Given the description of an element on the screen output the (x, y) to click on. 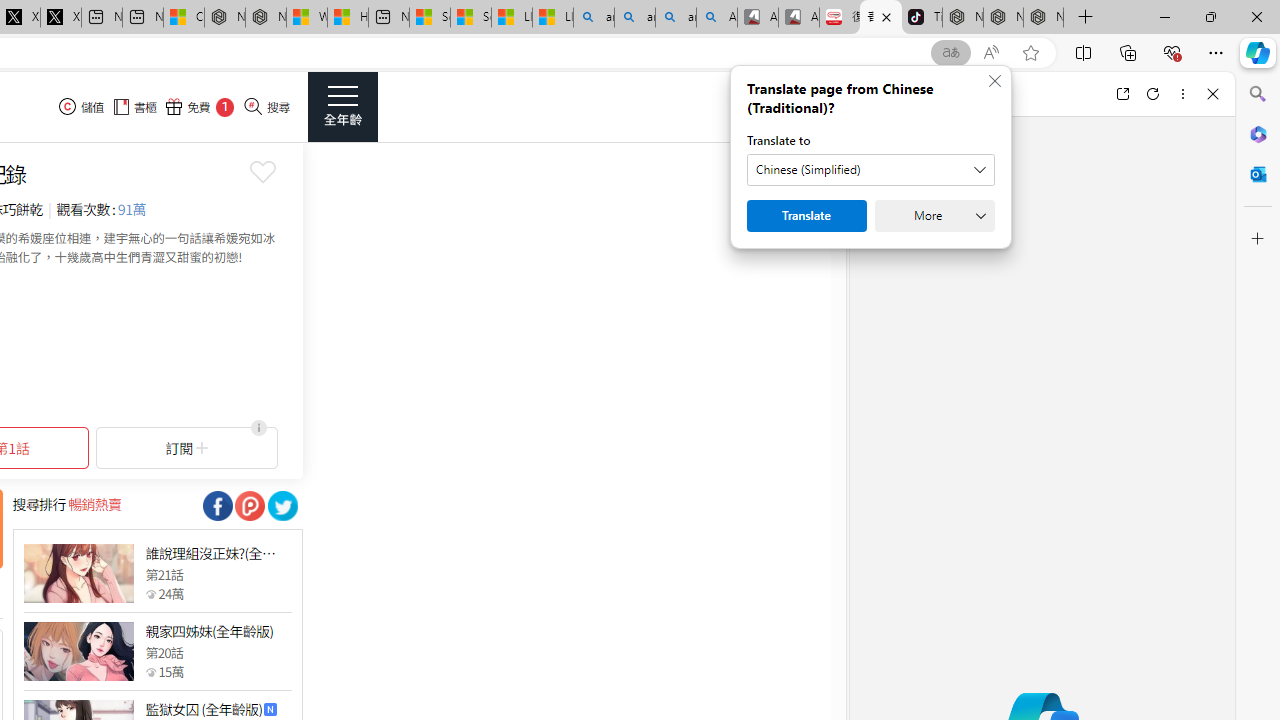
Class: side_menu_btn actionRightMenuBtn (342, 106)
Nordace Siena Pro 15 Backpack (1003, 17)
All Cubot phones (799, 17)
amazon - Search Images (675, 17)
Class: thumb_img (78, 651)
Nordace - Siena Pro 15 Essential Set (1043, 17)
Chat (884, 93)
TikTok (922, 17)
Class: socialShare (282, 506)
